Given the description of an element on the screen output the (x, y) to click on. 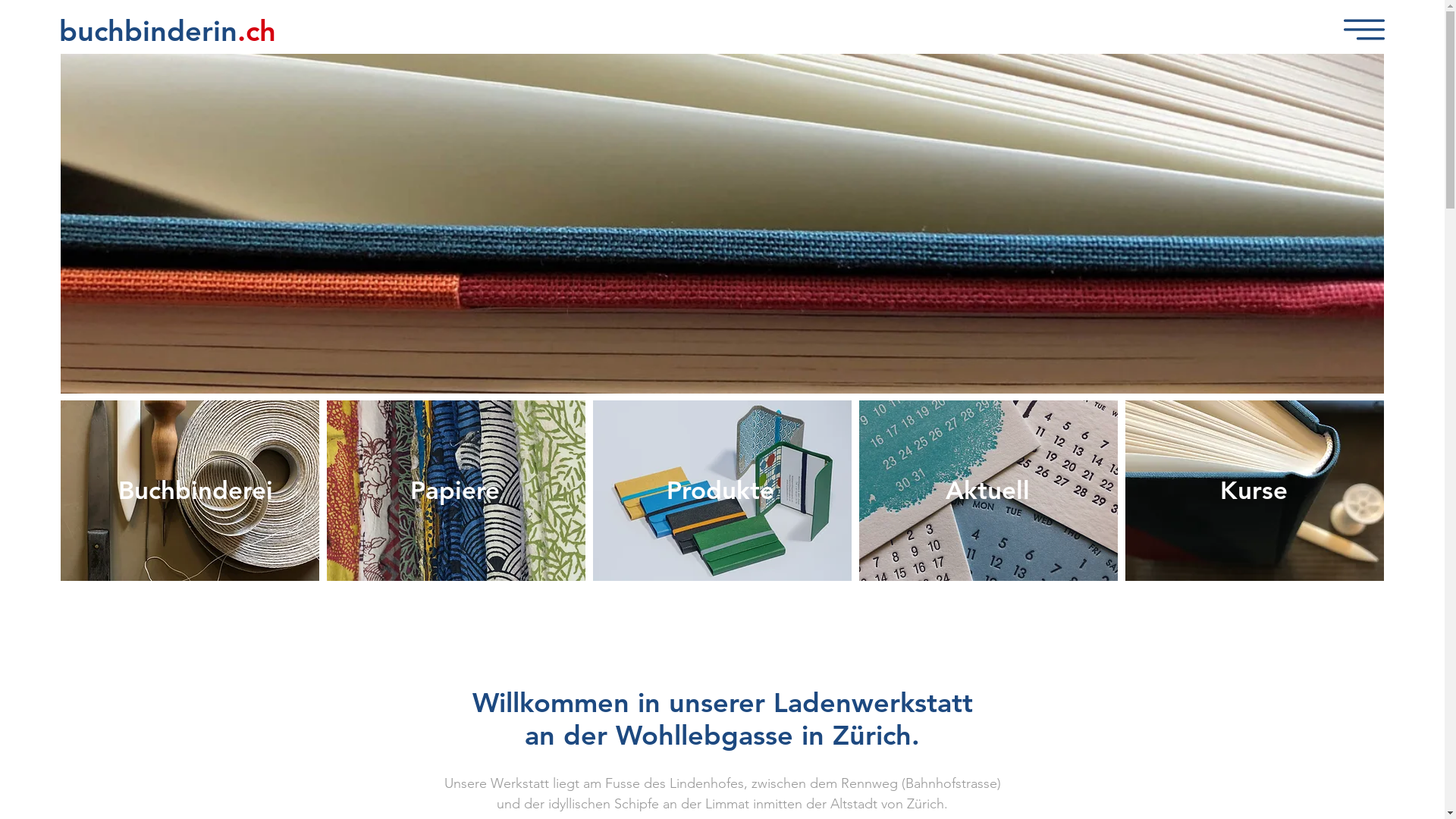
Aktuell Element type: text (987, 489)
Produkte Element type: text (719, 489)
Papiere Element type: text (454, 489)
buchbinderin.ch Element type: text (167, 30)
Kurse Element type: text (1253, 489)
Buchbinderei Element type: text (195, 489)
